Given the description of an element on the screen output the (x, y) to click on. 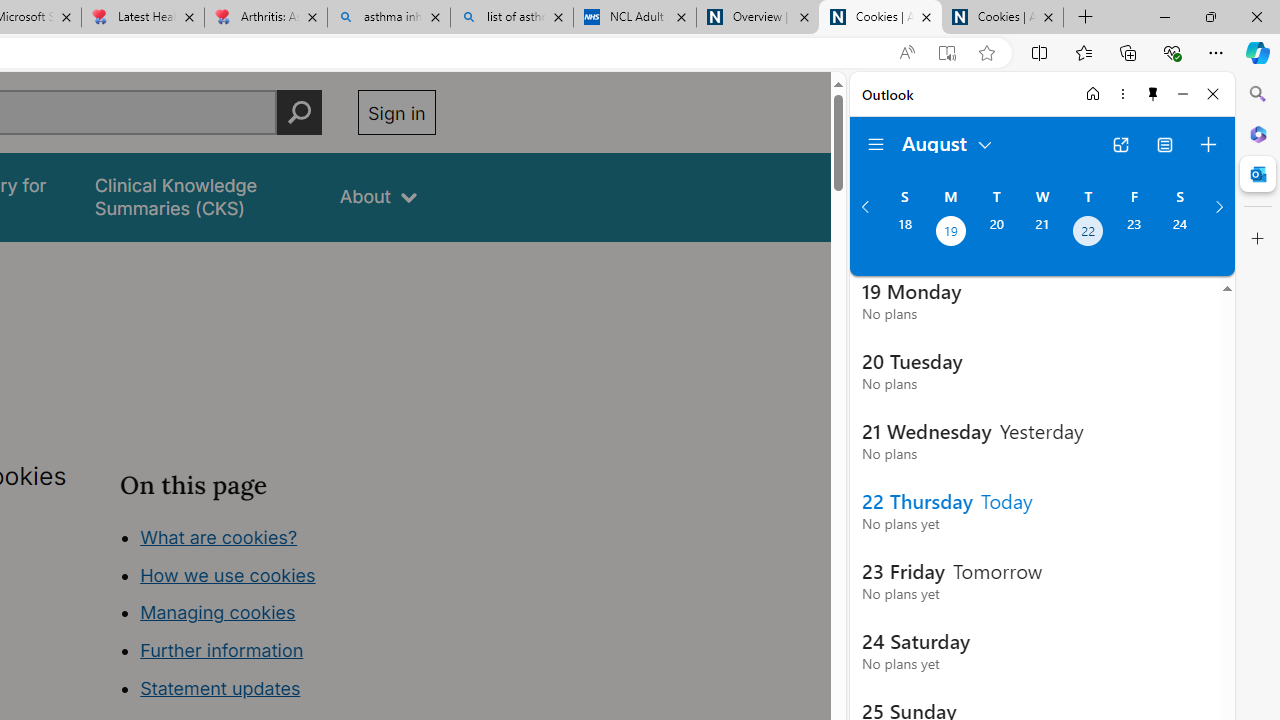
NCL Adult Asthma Inhaler Choice Guideline (634, 17)
How we use cookies (227, 574)
false (198, 196)
Tuesday, August 20, 2024.  (996, 233)
Thursday, August 22, 2024. Today.  (1088, 233)
What are cookies? (218, 536)
Class: in-page-nav__list (277, 615)
